Given the description of an element on the screen output the (x, y) to click on. 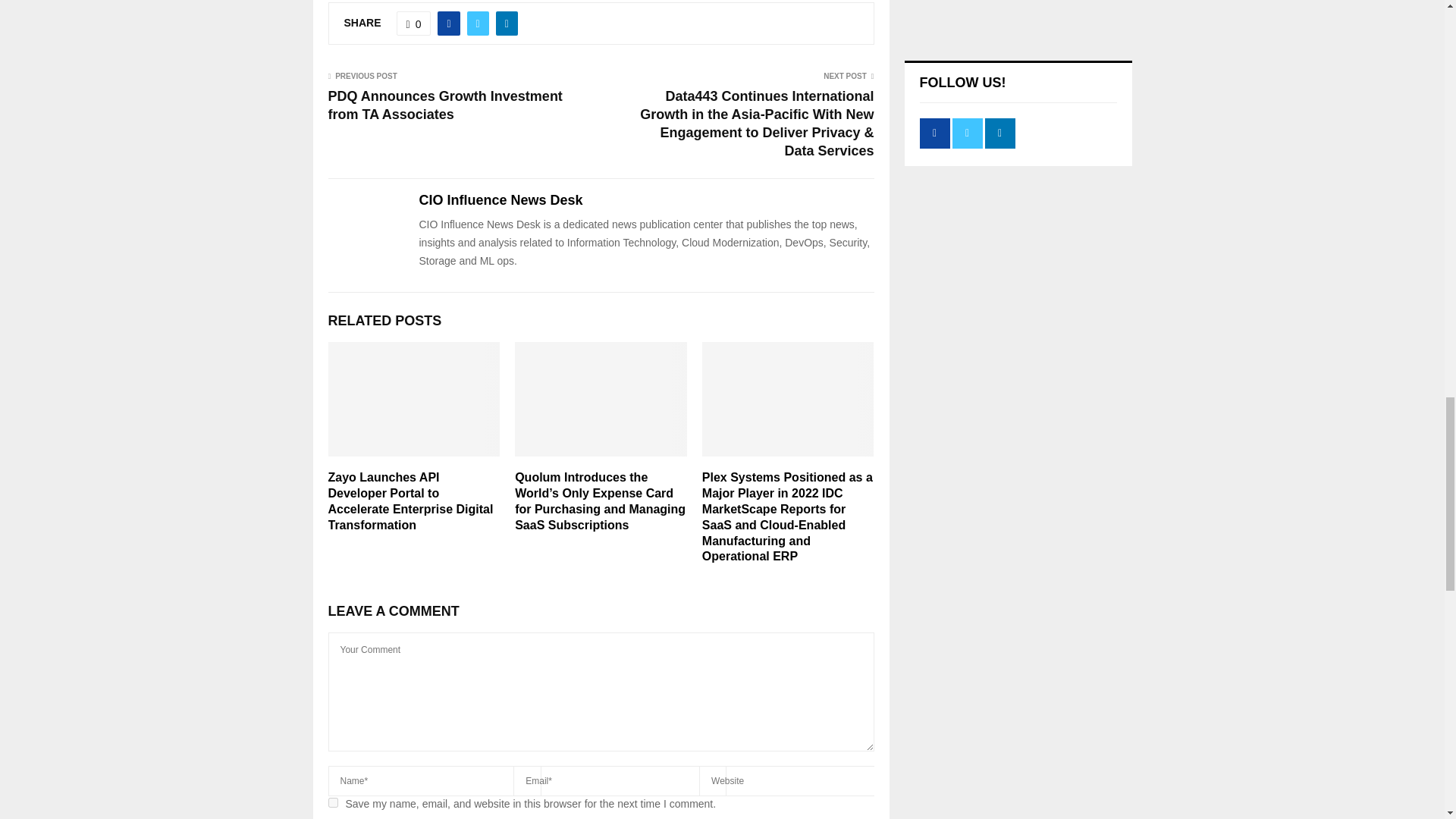
yes (332, 802)
Like (413, 23)
Posts by CIO Influence News Desk (500, 200)
